Given the description of an element on the screen output the (x, y) to click on. 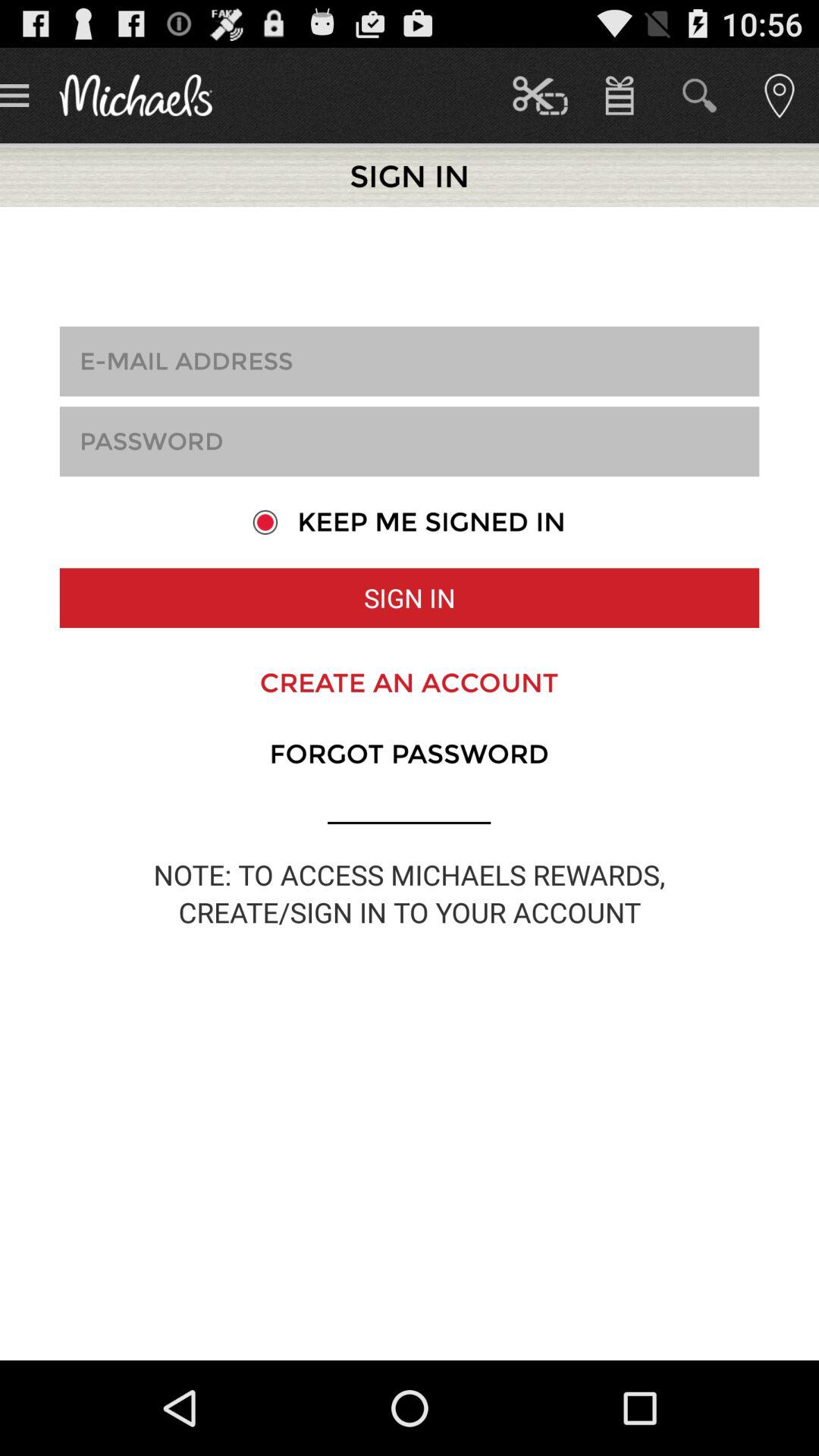
swipe until the keep me signed item (409, 522)
